Given the description of an element on the screen output the (x, y) to click on. 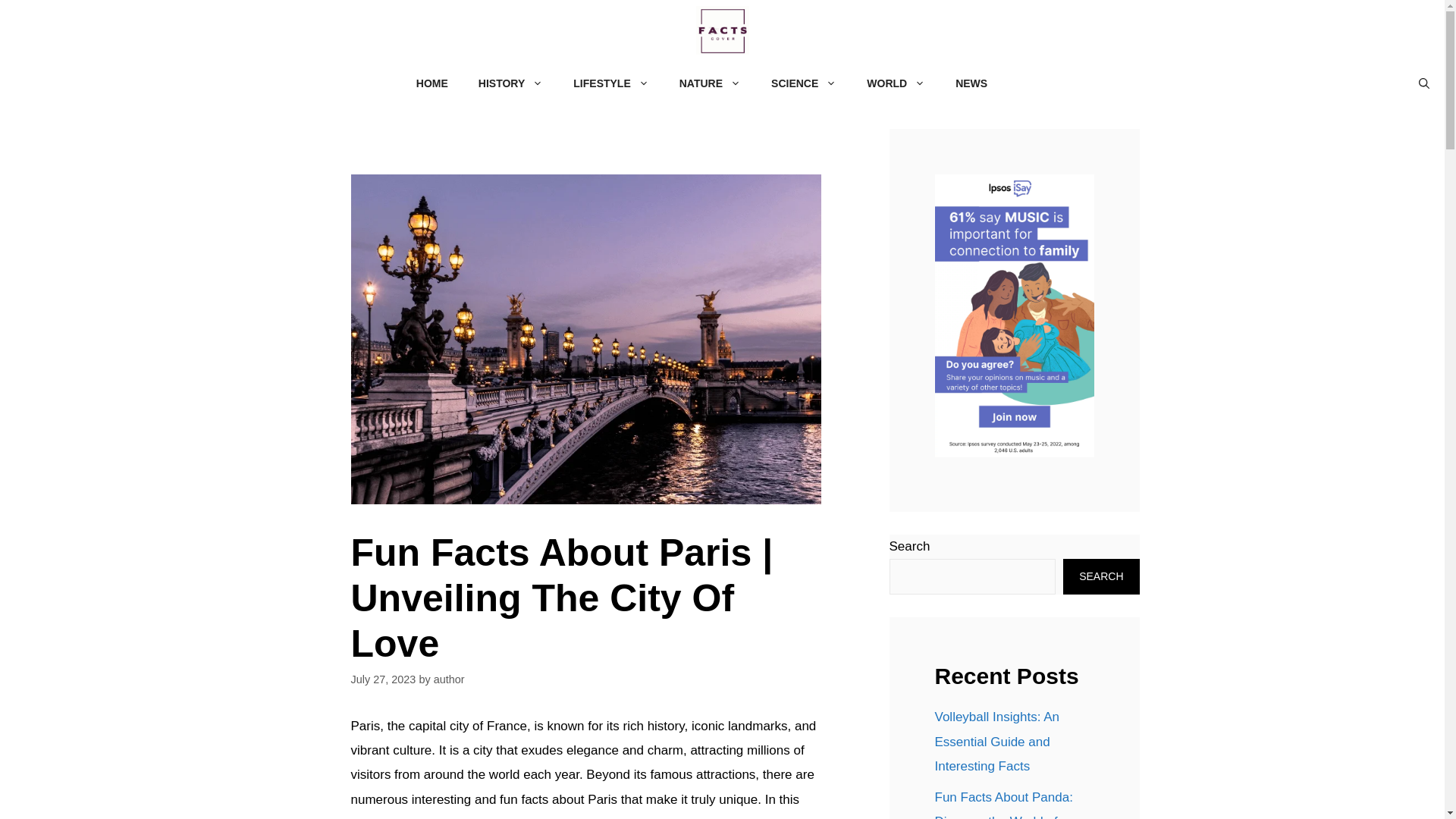
View all posts by author (448, 679)
HOME (432, 83)
LIFESTYLE (610, 83)
HISTORY (510, 83)
NATURE (709, 83)
